Given the description of an element on the screen output the (x, y) to click on. 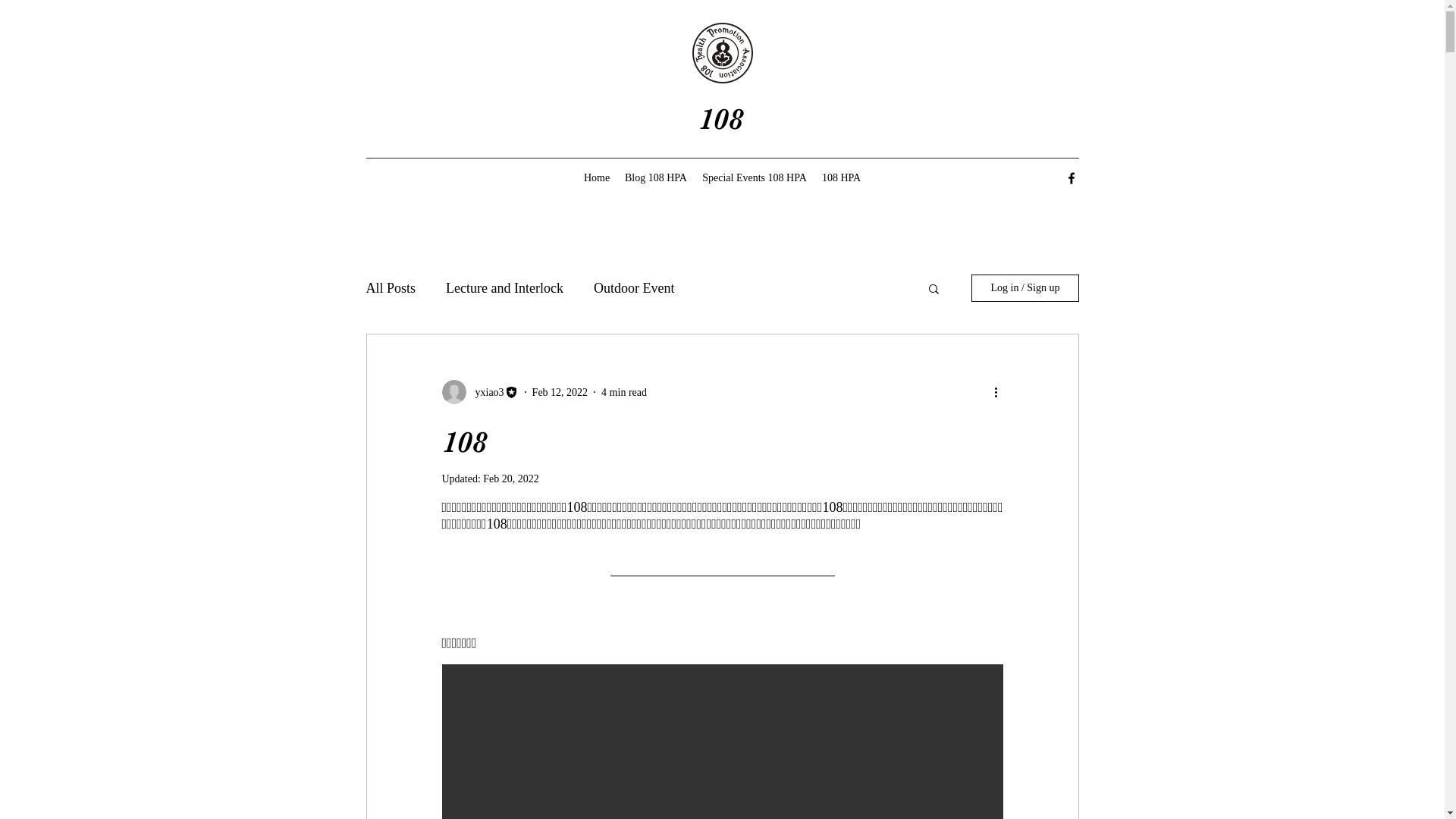
Lecture and Interlock Element type: text (504, 288)
Outdoor Event Element type: text (633, 288)
Home Element type: text (596, 177)
Special Events 108 HPA Element type: text (754, 177)
Blog 108 HPA Element type: text (655, 177)
108 Element type: text (723, 118)
All Posts Element type: text (390, 288)
Log in / Sign up Element type: text (1024, 287)
108 HPA Element type: text (841, 177)
